Given the description of an element on the screen output the (x, y) to click on. 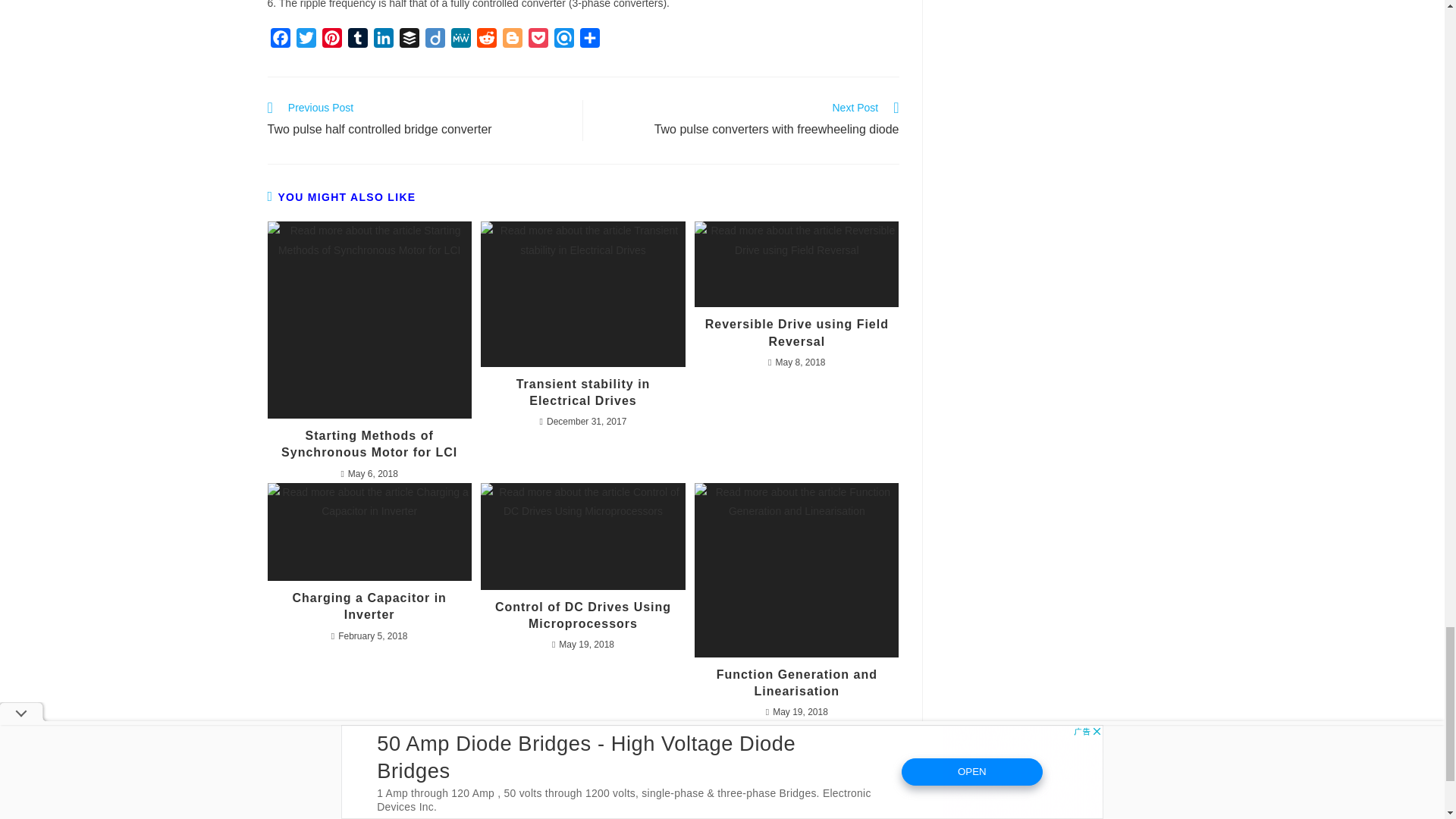
Diigo (434, 40)
Twitter (305, 40)
Pinterest (330, 40)
Reddit (486, 40)
LinkedIn (382, 40)
Blogger (511, 40)
Pocket (537, 40)
Refind (563, 40)
MeWe (459, 40)
Facebook (279, 40)
Tumblr (356, 40)
Buffer (409, 40)
